Given the description of an element on the screen output the (x, y) to click on. 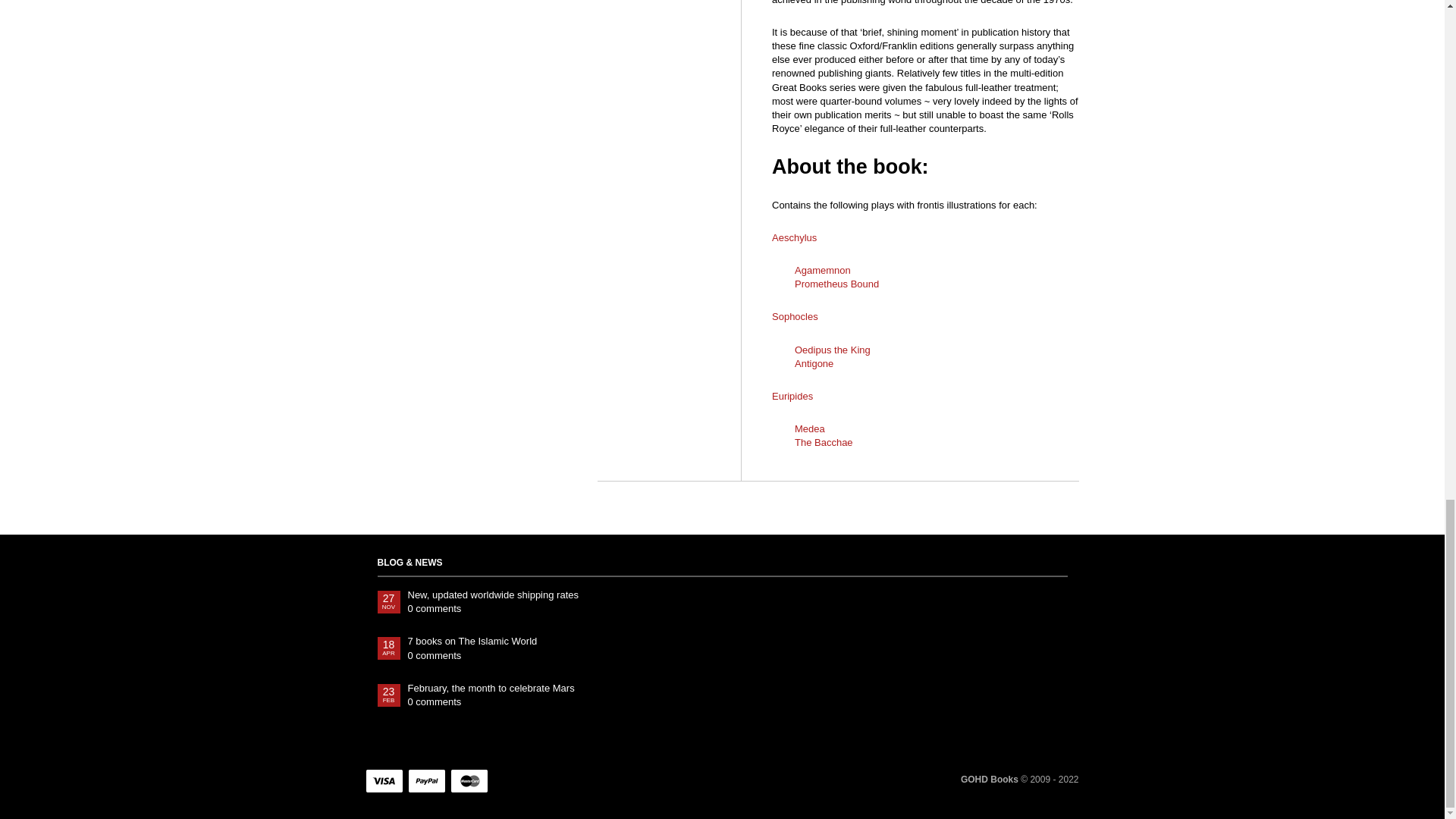
February, the month to celebrate Mars (737, 688)
7 books on The Islamic World (737, 641)
New, updated worldwide shipping rates (737, 594)
